Given the description of an element on the screen output the (x, y) to click on. 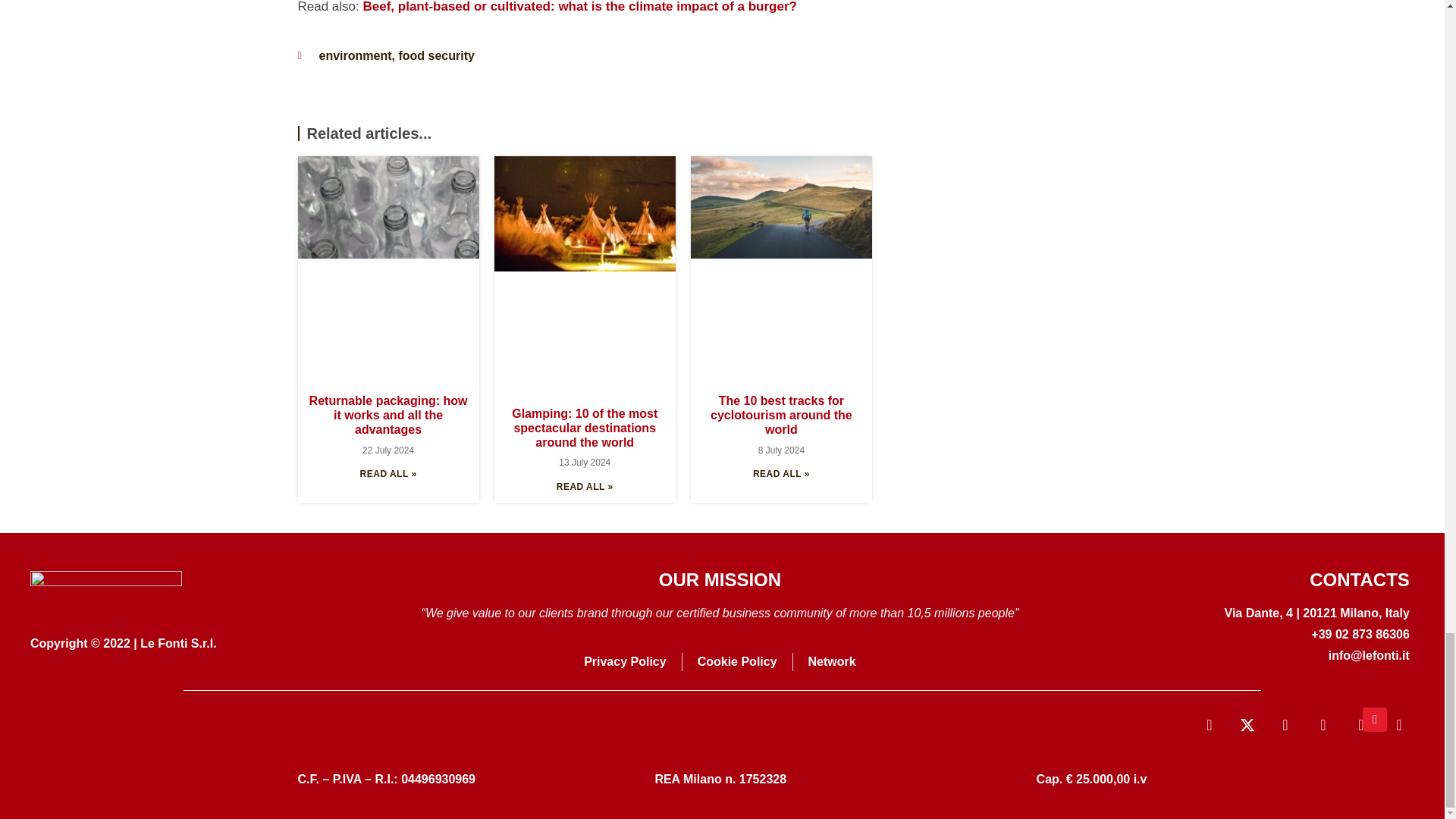
The 10 best tracks for cyclotourism around the world (780, 414)
environment (354, 55)
Returnable packaging: how it works and all the advantages (387, 414)
food security (435, 55)
